Given the description of an element on the screen output the (x, y) to click on. 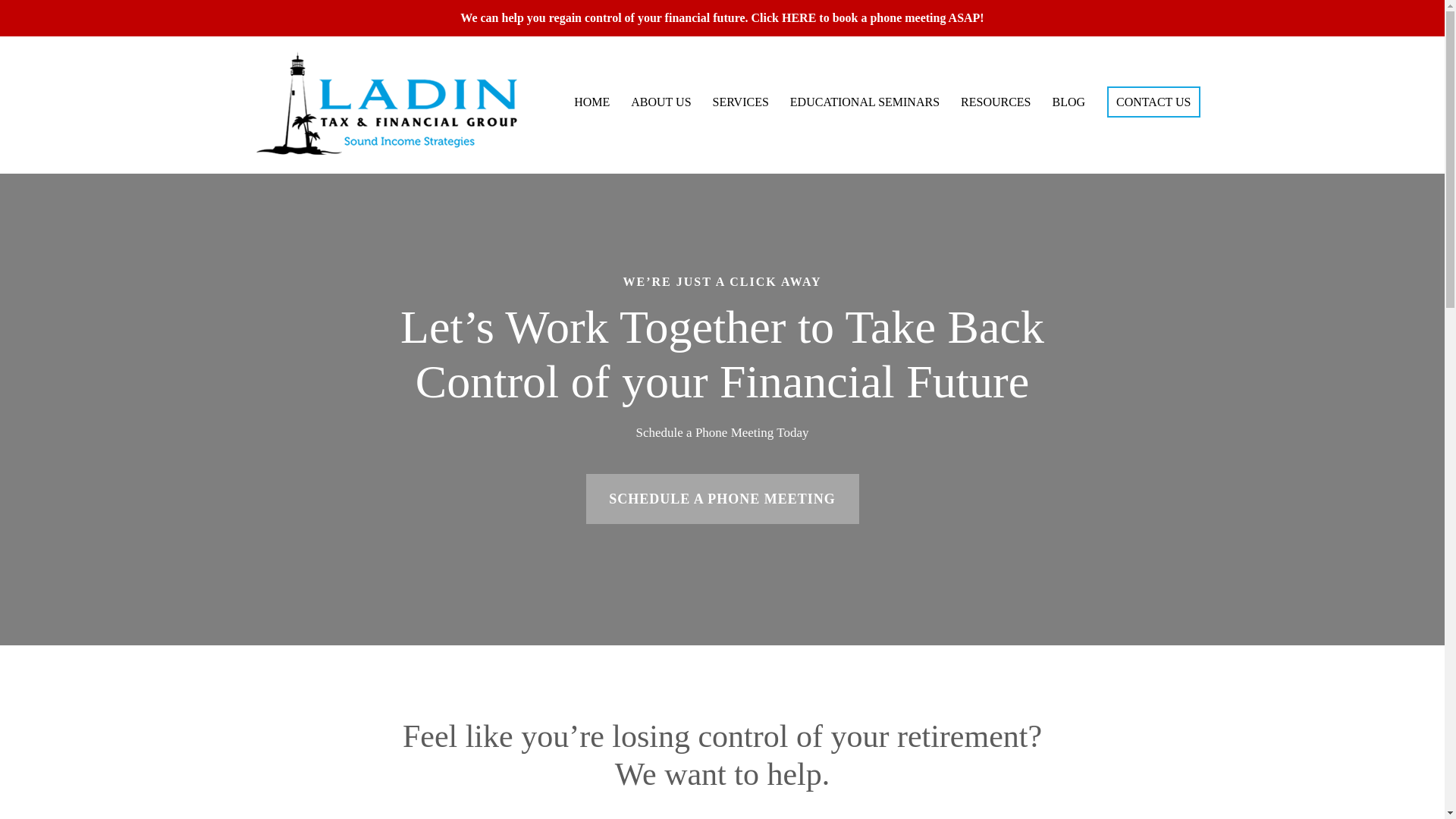
SERVICES (739, 101)
CONTACT US (1152, 101)
HOME (591, 101)
RESOURCES (995, 101)
ABOUT US (660, 101)
EDUCATIONAL SEMINARS (864, 101)
SCHEDULE A PHONE MEETING (722, 499)
BLOG (1069, 101)
